Given the description of an element on the screen output the (x, y) to click on. 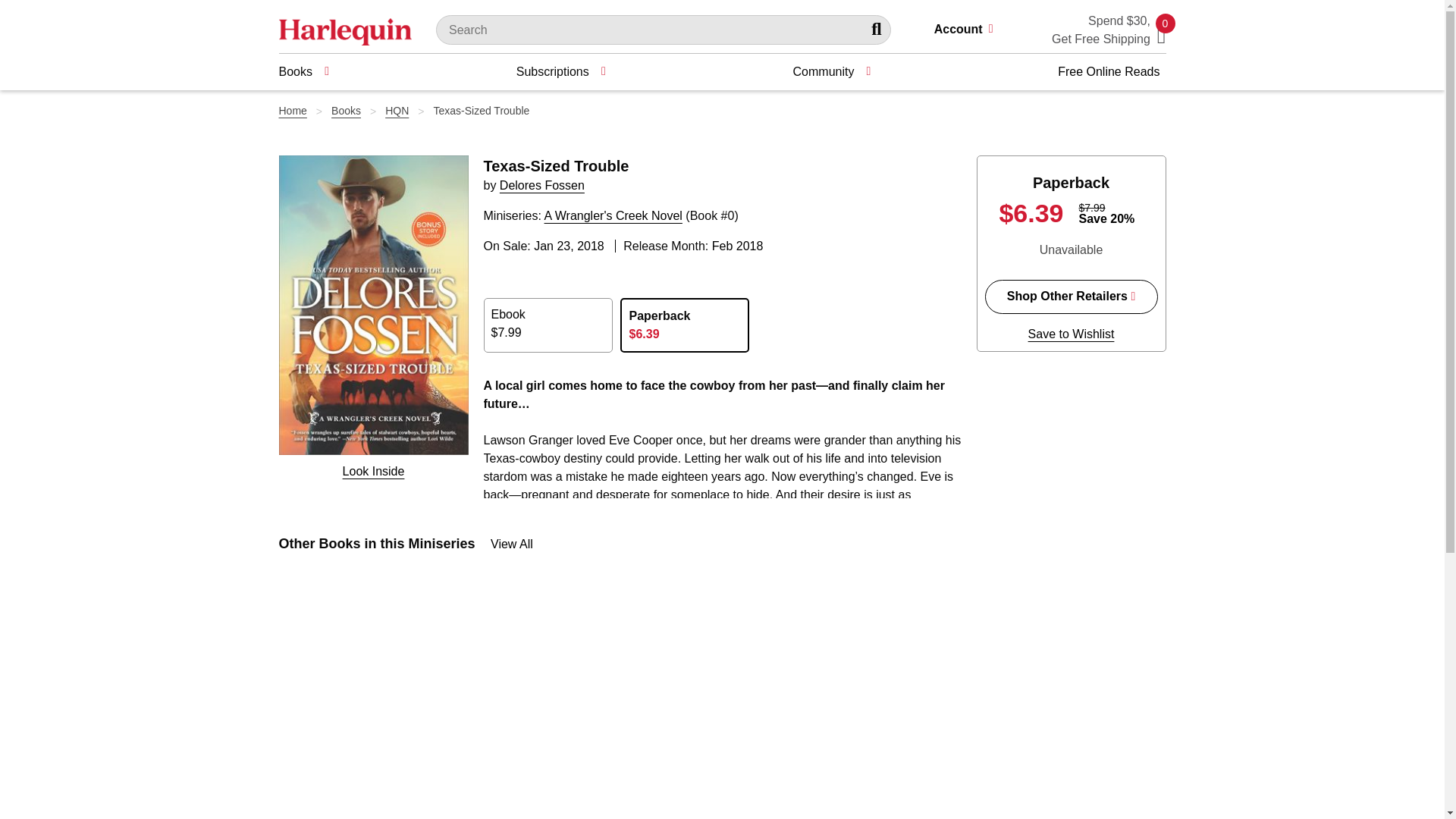
Search for other content by Delores Fossen (542, 185)
Harlequin home (345, 30)
Account (970, 30)
